Given the description of an element on the screen output the (x, y) to click on. 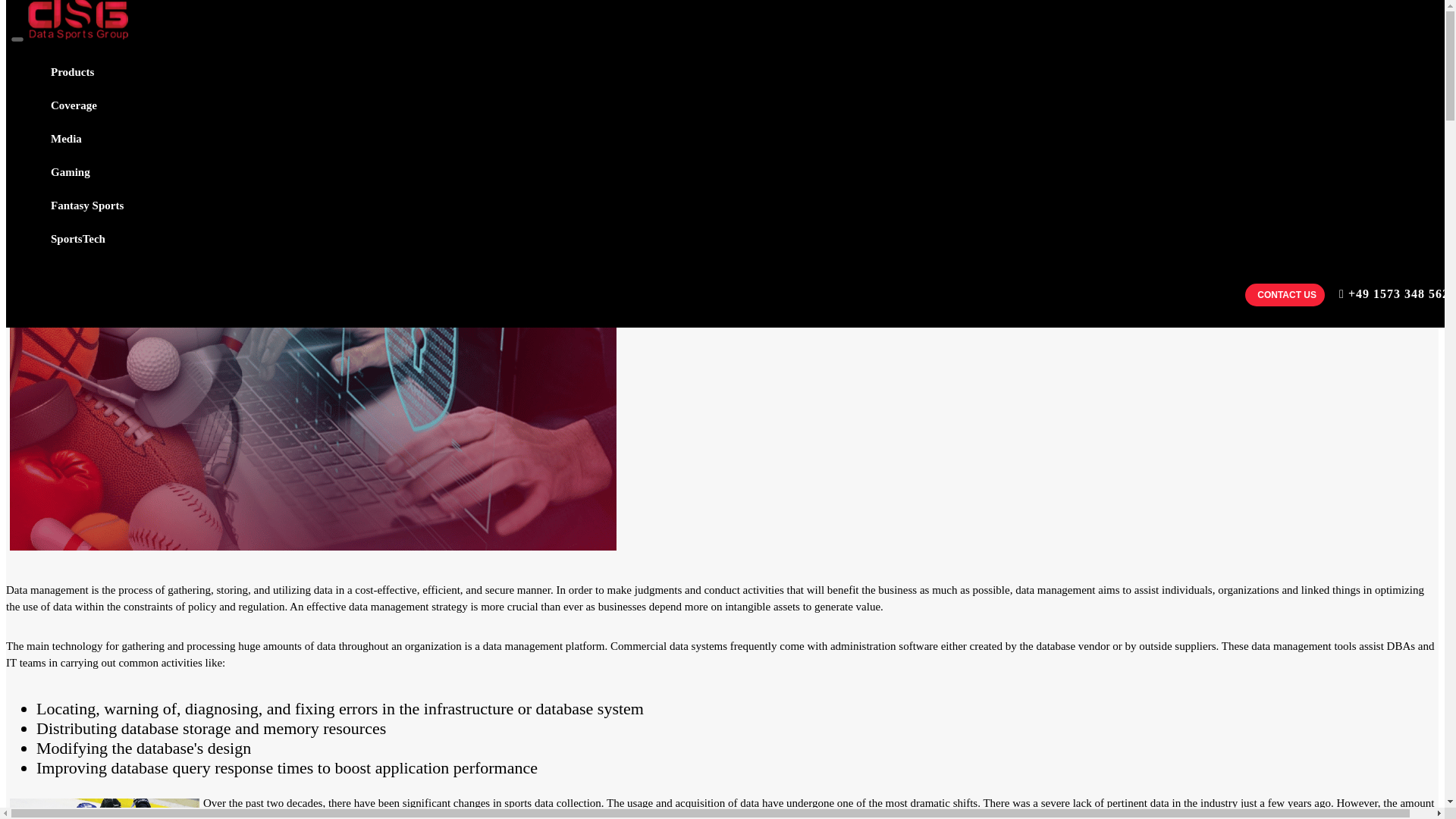
CONTACT US (1286, 294)
Toggle navigation (17, 38)
CONTACT US (1284, 294)
